Given the description of an element on the screen output the (x, y) to click on. 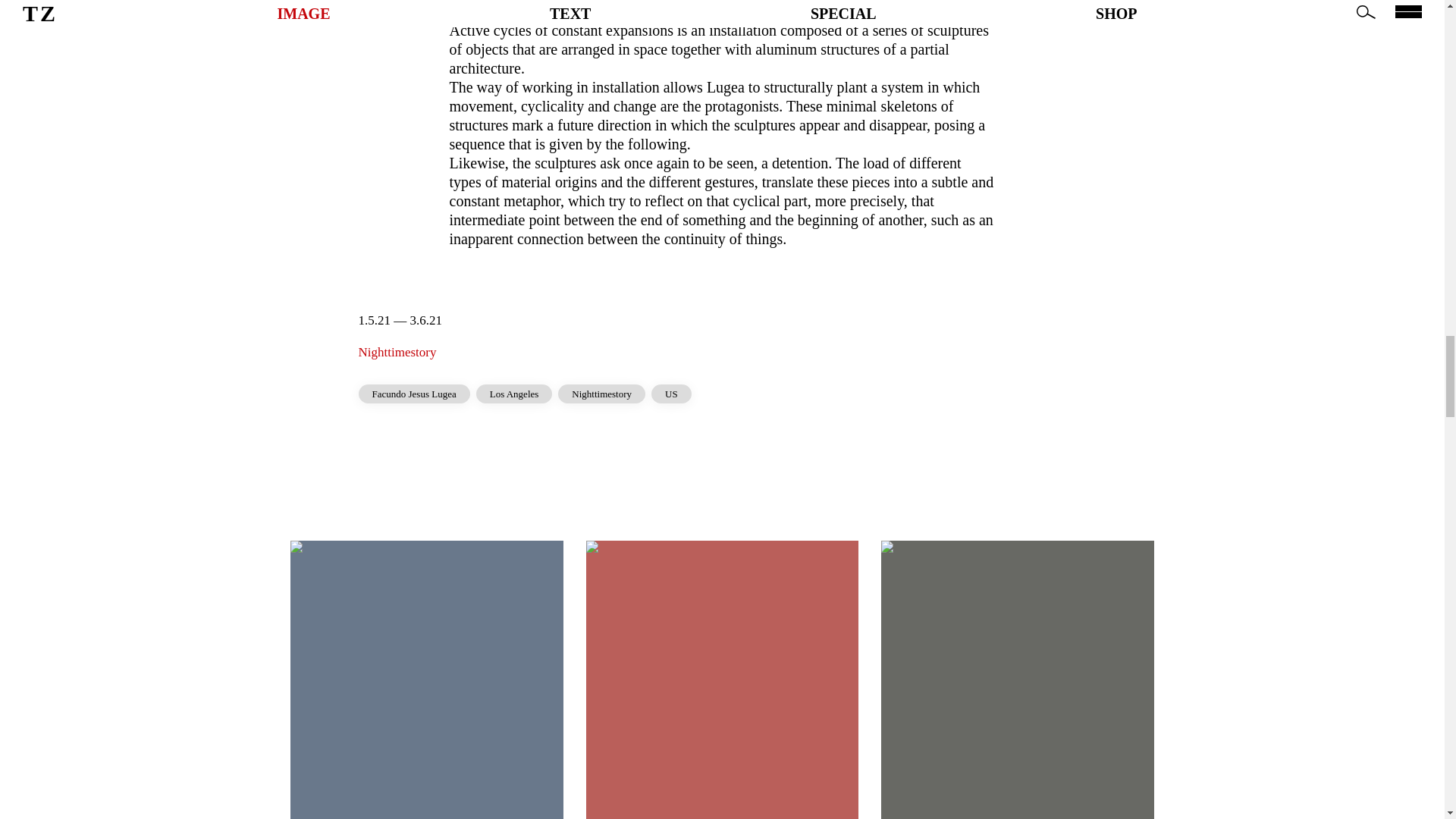
'ABSINTHE', Group Show Curated by PLAGUE at Smena, Kazan (426, 679)
US (670, 393)
Los Angeles (514, 393)
Facundo Jesus Lugea (413, 393)
Nighttimestory (601, 393)
Nighttimestory (396, 351)
